Given the description of an element on the screen output the (x, y) to click on. 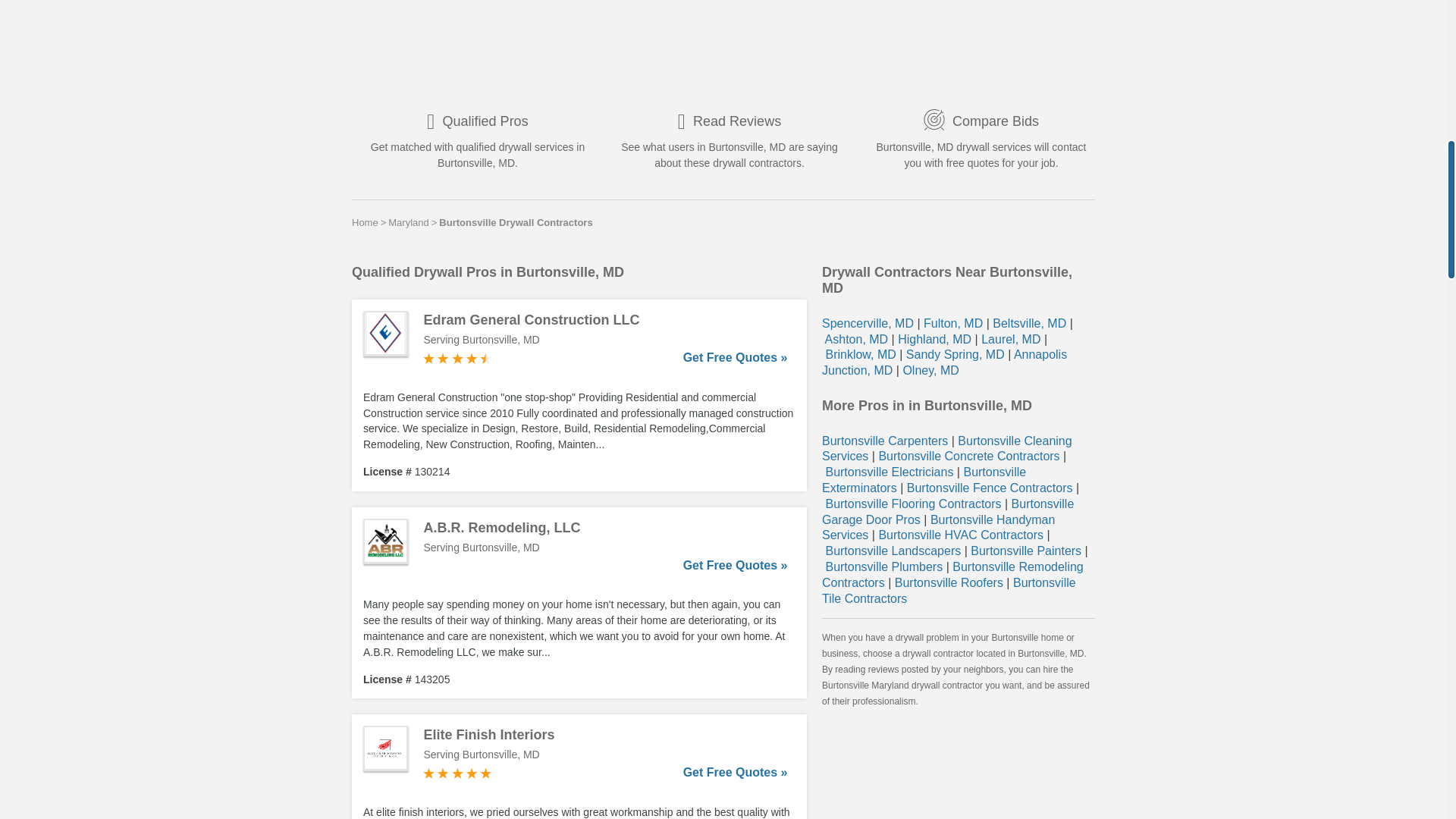
Home (365, 222)
4.5 star rating (457, 358)
Maryland (408, 222)
5 star rating (457, 773)
Edram General Construction LLC (605, 320)
